Given the description of an element on the screen output the (x, y) to click on. 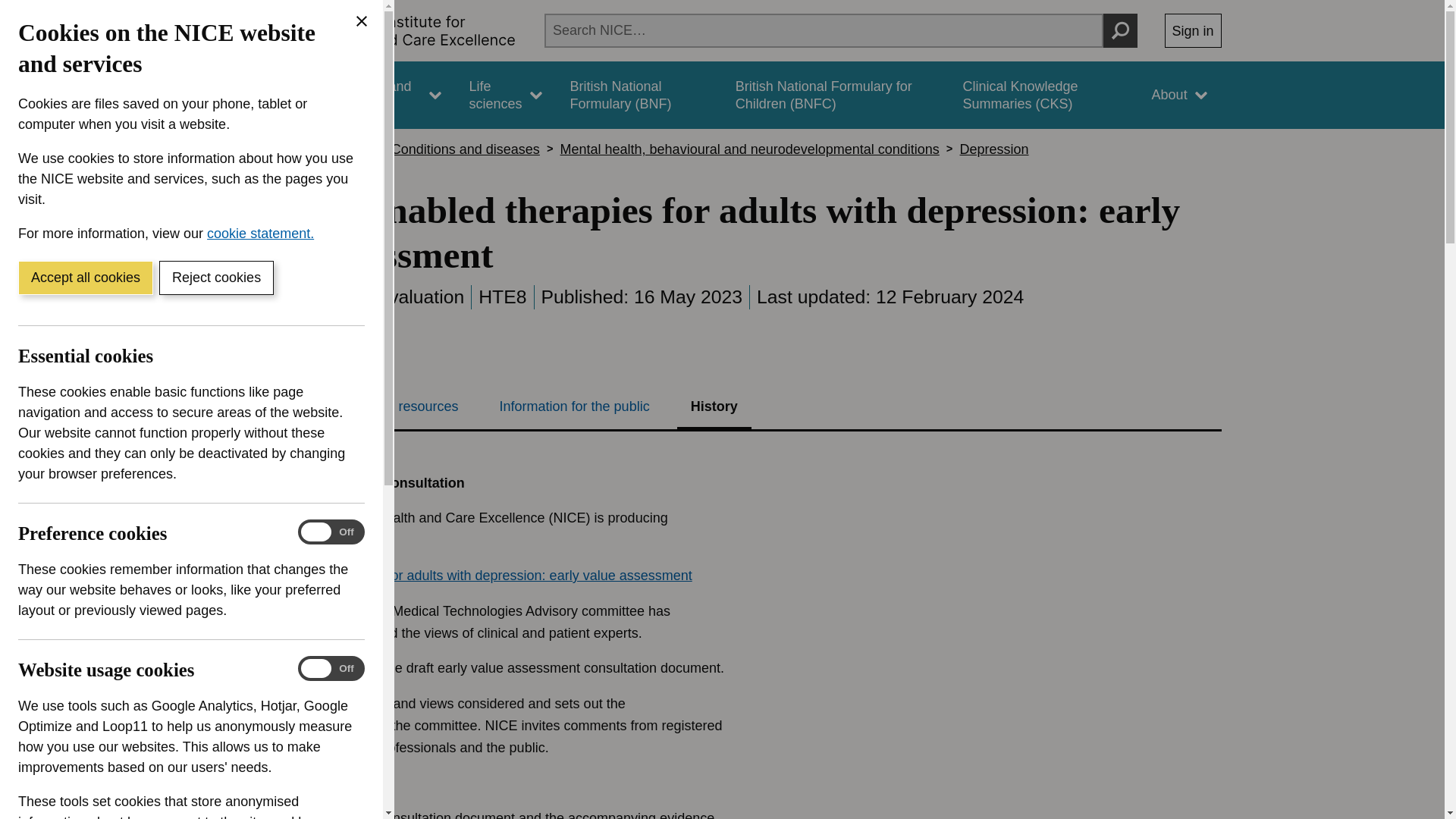
Life sciences (505, 94)
Standards and indicators (381, 94)
Guidance (265, 94)
Reject cookies (215, 277)
Sign in (1192, 30)
Accept all cookies (84, 277)
